Given the description of an element on the screen output the (x, y) to click on. 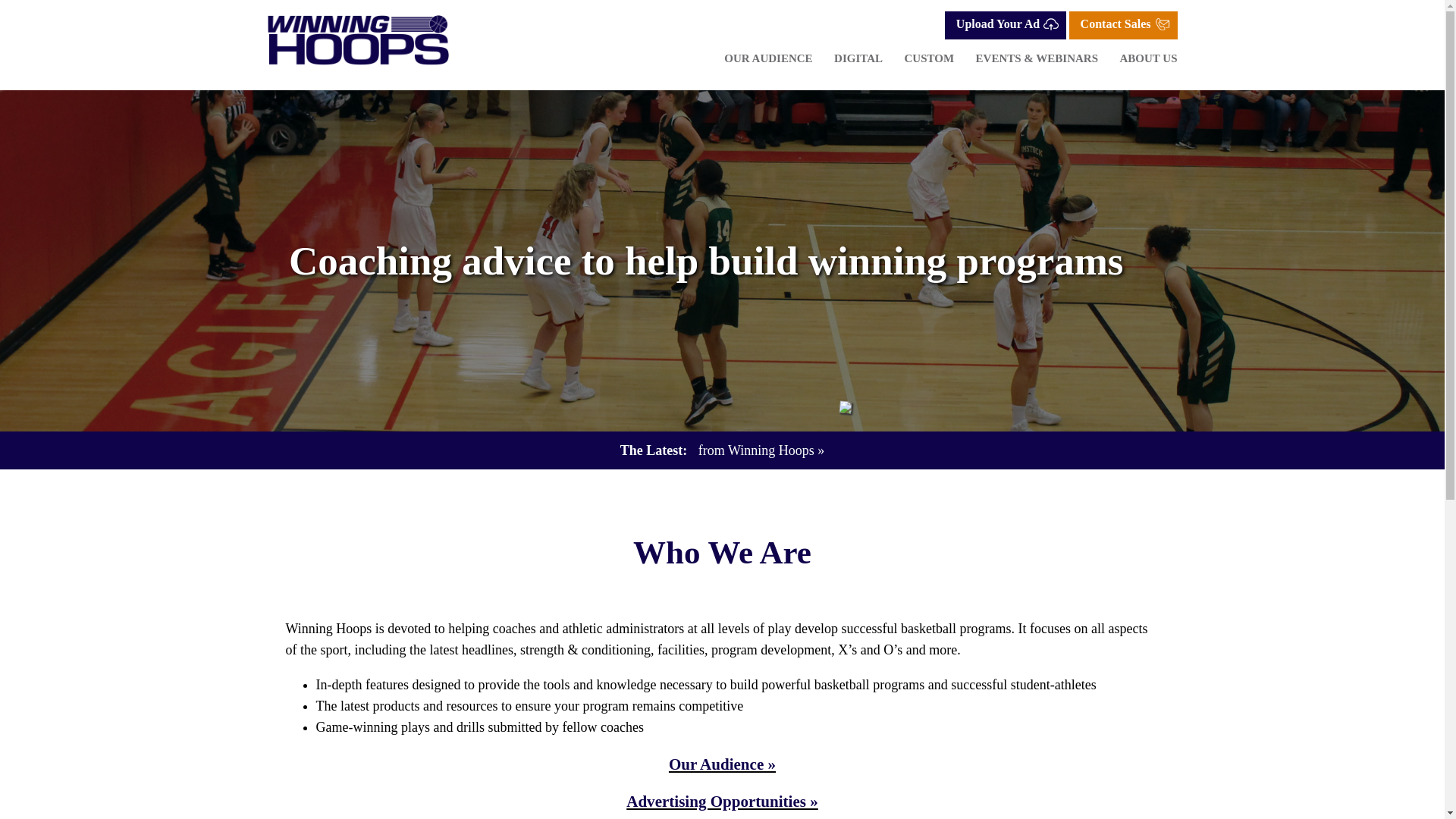
Upload Your Ad (1004, 25)
ABOUT US (1147, 58)
Contact Sales (1122, 25)
DIGITAL (858, 58)
Coaching advice to help build winning programs (705, 260)
CUSTOM (928, 58)
OUR AUDIENCE (767, 58)
